Given the description of an element on the screen output the (x, y) to click on. 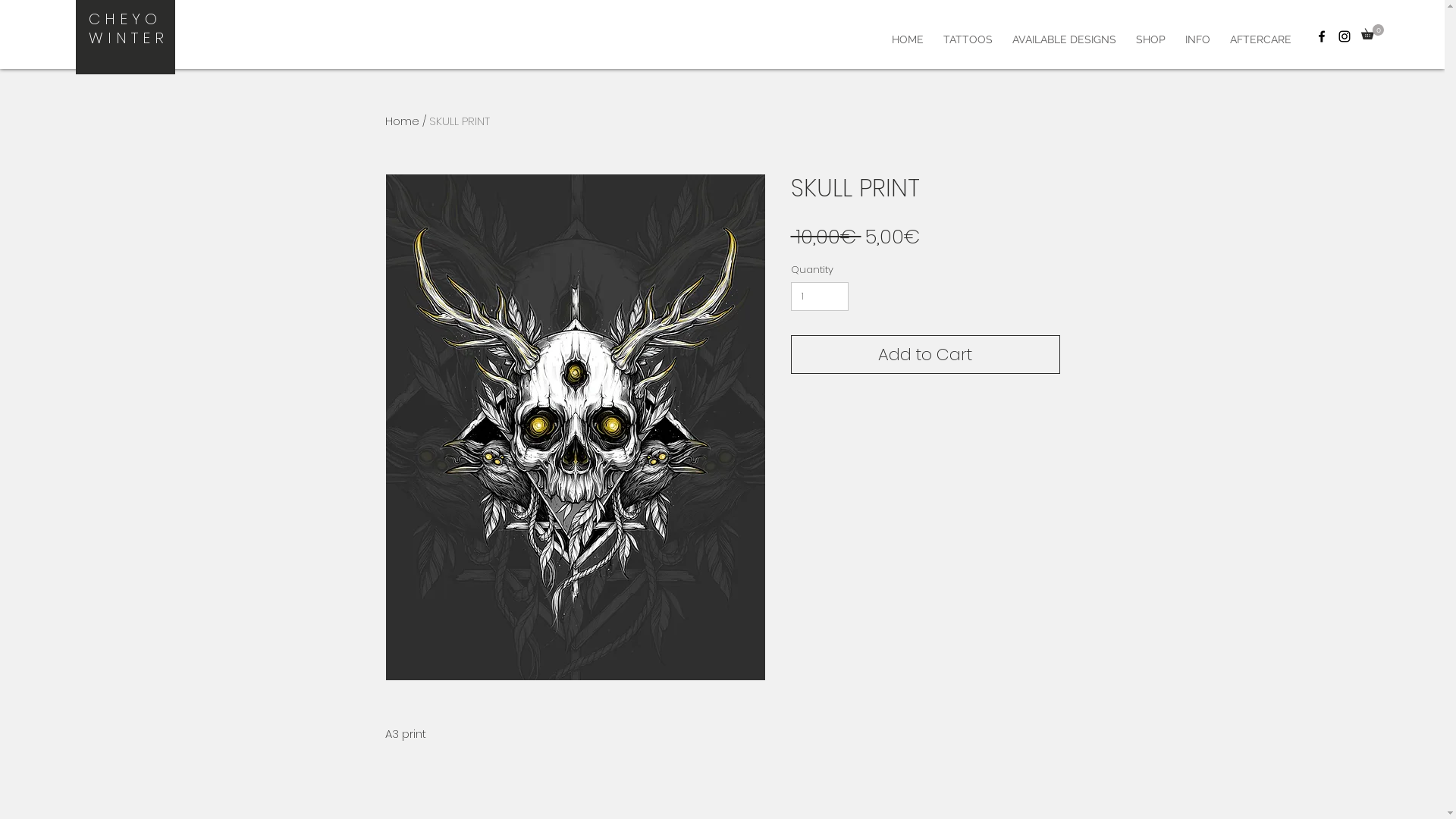
TATTOOS Element type: text (967, 39)
0 Element type: text (1372, 31)
INFO Element type: text (1197, 39)
Add to Cart Element type: text (924, 354)
HOME Element type: text (907, 39)
AFTERCARE Element type: text (1260, 39)
AVAILABLE DESIGNS Element type: text (1064, 39)
SKULL PRINT Element type: text (459, 120)
CHEYOWINTER Element type: text (128, 28)
Home Element type: text (402, 120)
SHOP Element type: text (1150, 39)
